Given the description of an element on the screen output the (x, y) to click on. 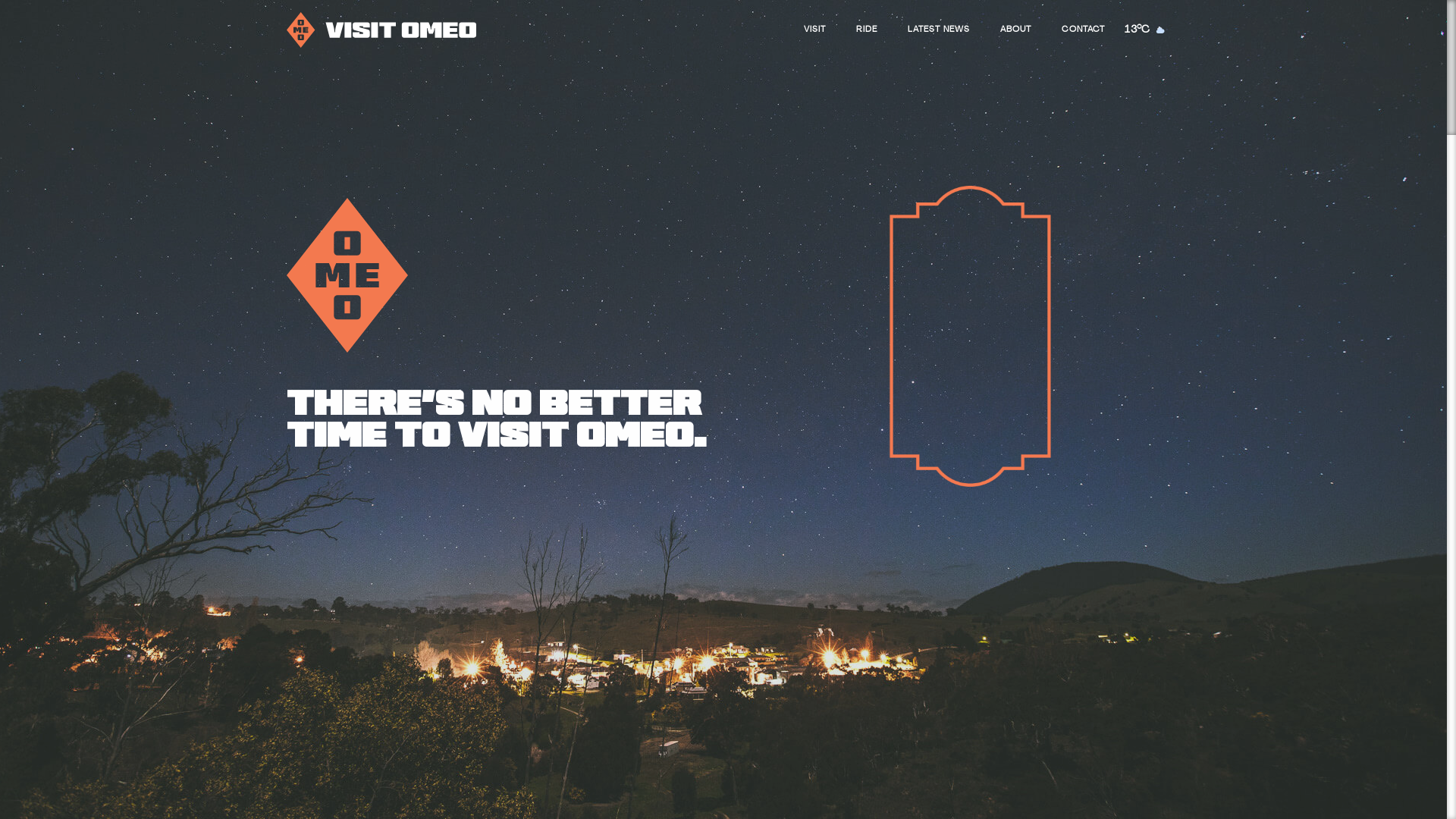
LATEST NEWS Element type: text (938, 30)
RIDE Element type: text (866, 30)
CONTACT Element type: text (1082, 30)
ABOUT Element type: text (1015, 30)
VISIT Element type: text (814, 30)
